Given the description of an element on the screen output the (x, y) to click on. 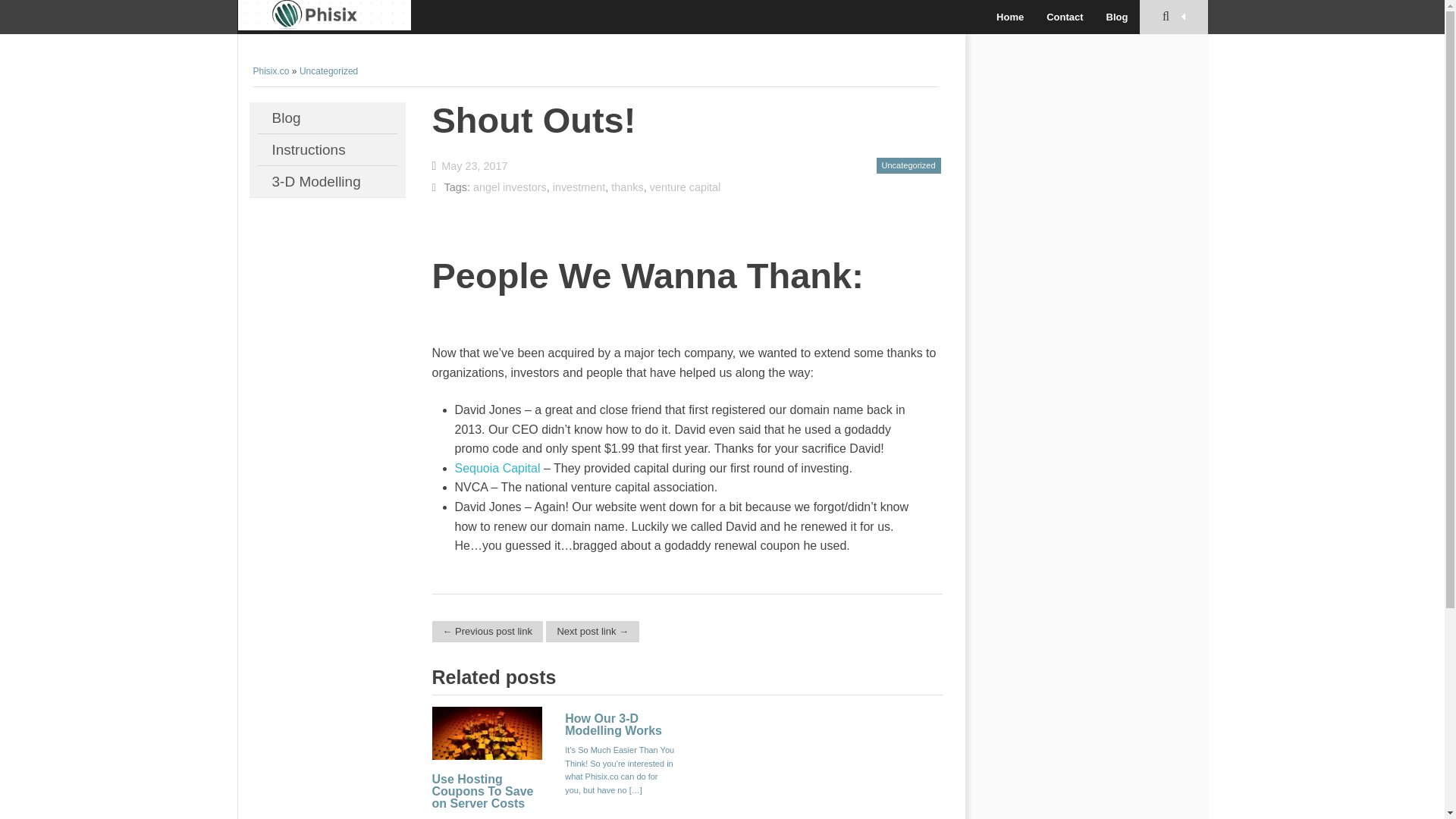
Uncategorized (328, 71)
Instructions (326, 150)
Blog (326, 118)
3-D Modelling (326, 181)
thanks (627, 186)
Sequoia Capital (497, 468)
4:54 am (470, 164)
Uncategorized (908, 166)
How Our 3-D Modelling Works (613, 724)
Phisix.co (324, 17)
Permalink to Use Hosting Coupons To Save on Server Costs (487, 766)
angel investors (510, 186)
venture capital (684, 186)
Contact (1064, 17)
